Given the description of an element on the screen output the (x, y) to click on. 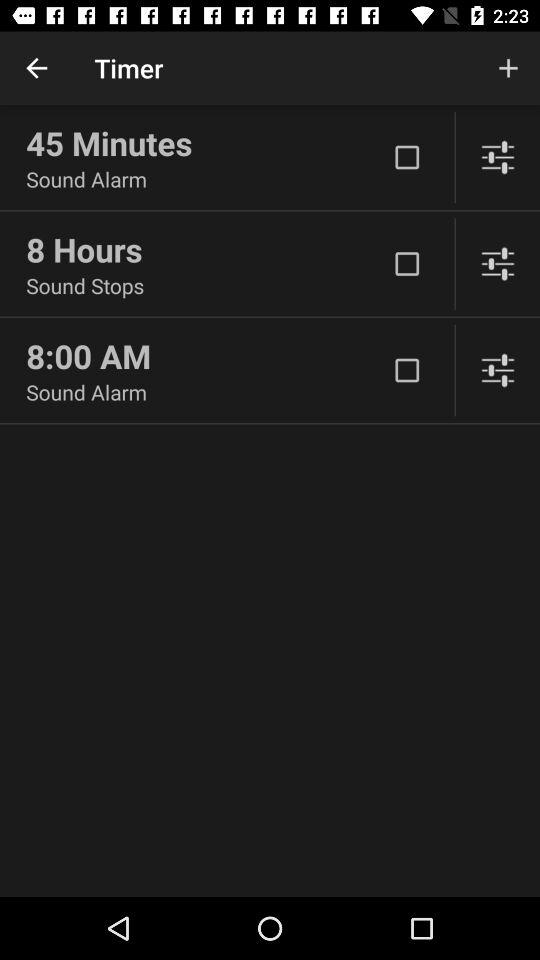
launch icon below the sound stops item (206, 356)
